Given the description of an element on the screen output the (x, y) to click on. 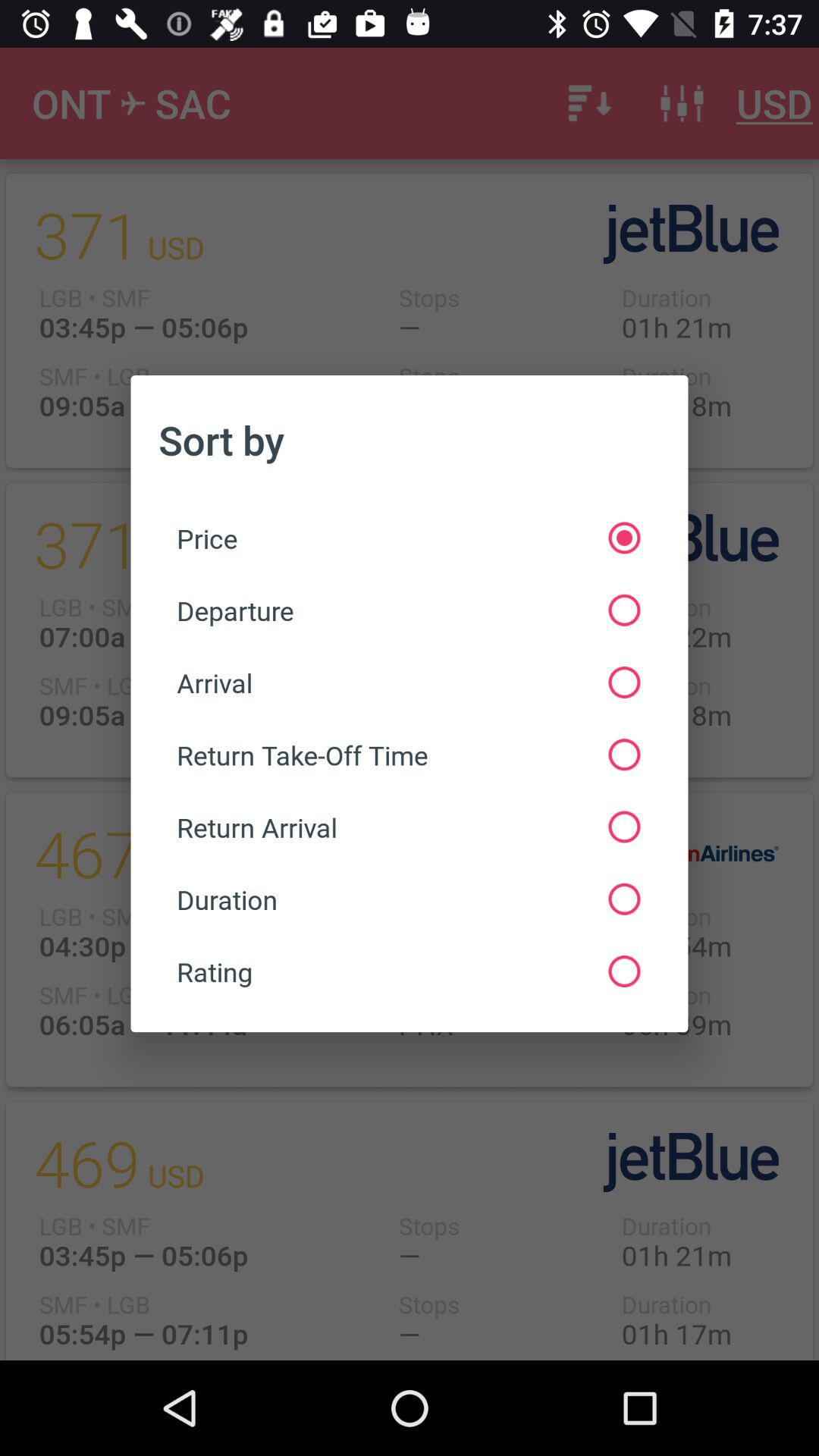
select item above departure (408, 538)
